Given the description of an element on the screen output the (x, y) to click on. 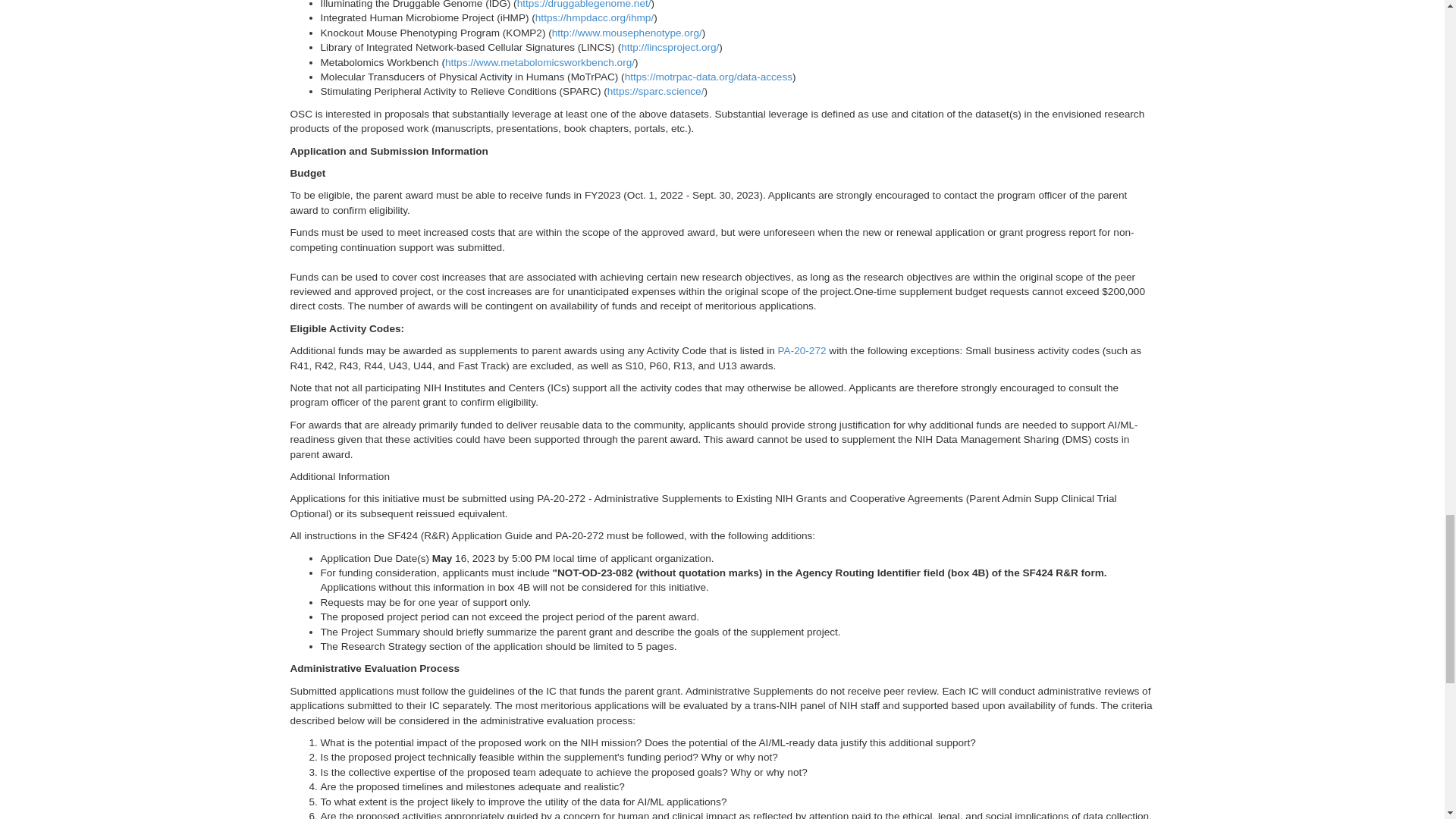
Link to Non-U.S. Government Site (539, 61)
Link to Non-U.S. Government Site (594, 17)
Link to Non-U.S. Government Site (626, 32)
Link to Non-U.S. Government Site (655, 91)
Link to Non-U.S. Government Site (583, 4)
Link to Non-U.S. Government Site (708, 76)
Link to Non-U.S. Government Site (670, 47)
